Given the description of an element on the screen output the (x, y) to click on. 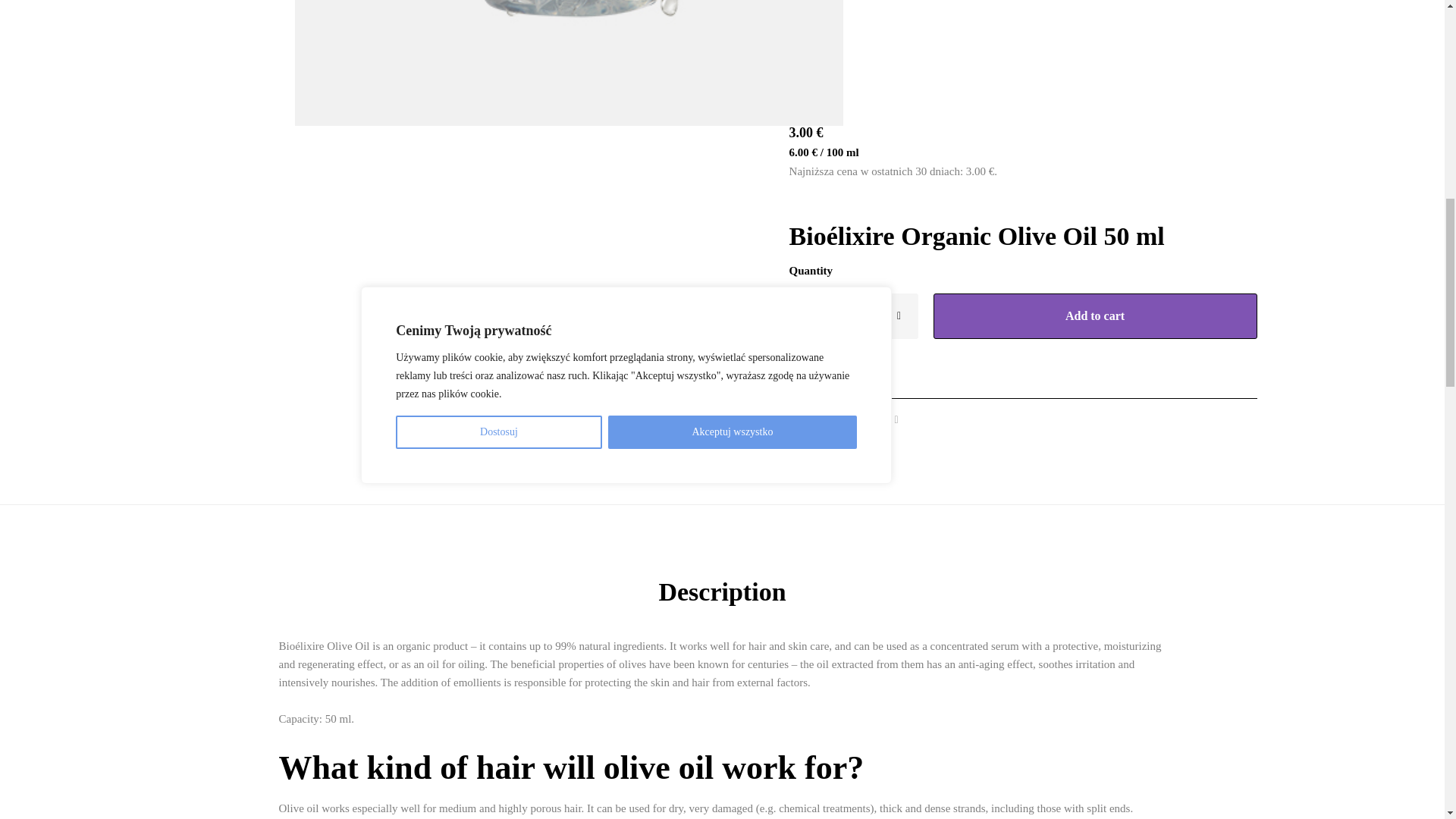
Qty (853, 316)
1 (853, 316)
